Given the description of an element on the screen output the (x, y) to click on. 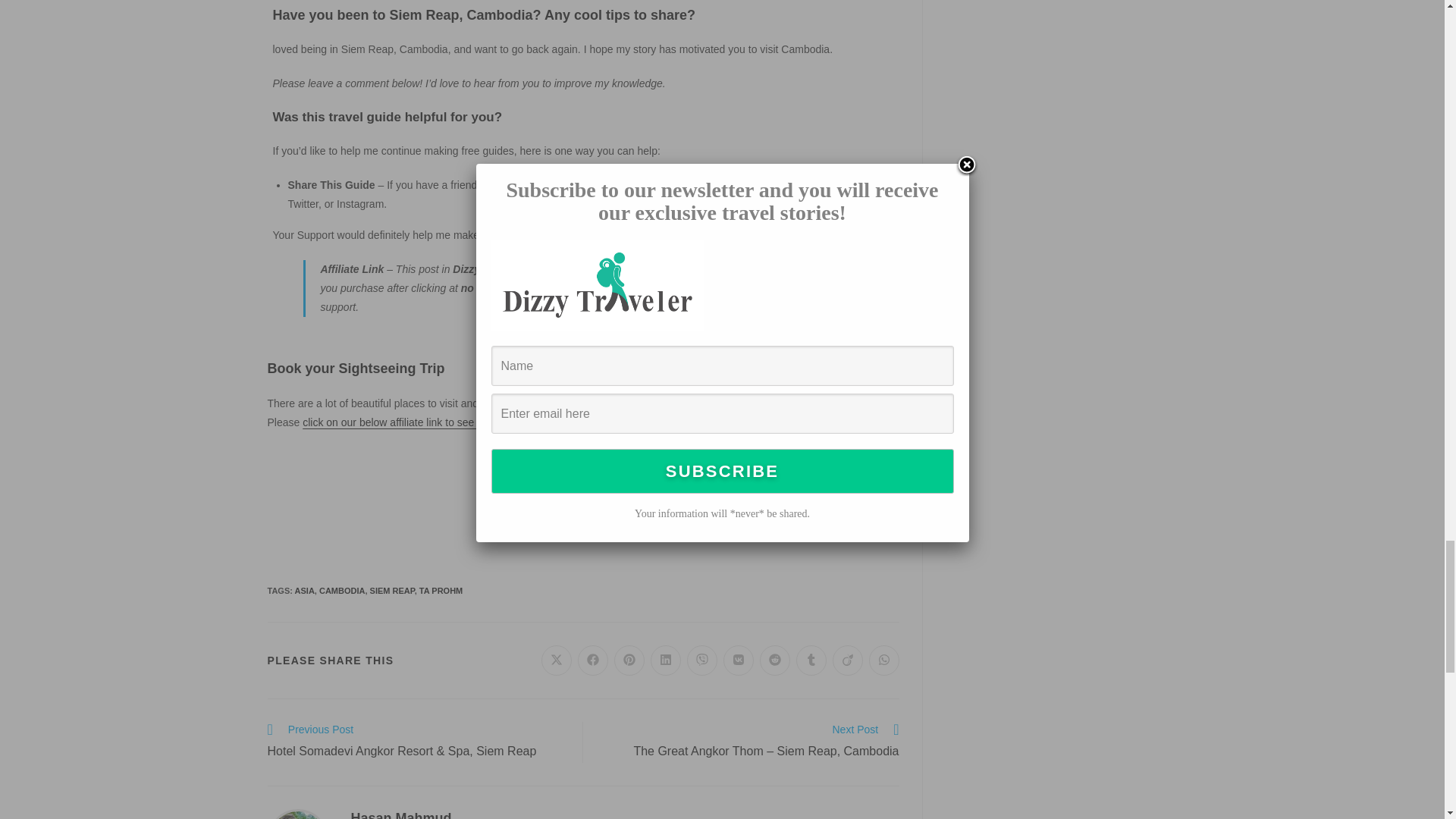
GetYourGuide Widget (582, 504)
Visit author page (400, 814)
